Given the description of an element on the screen output the (x, y) to click on. 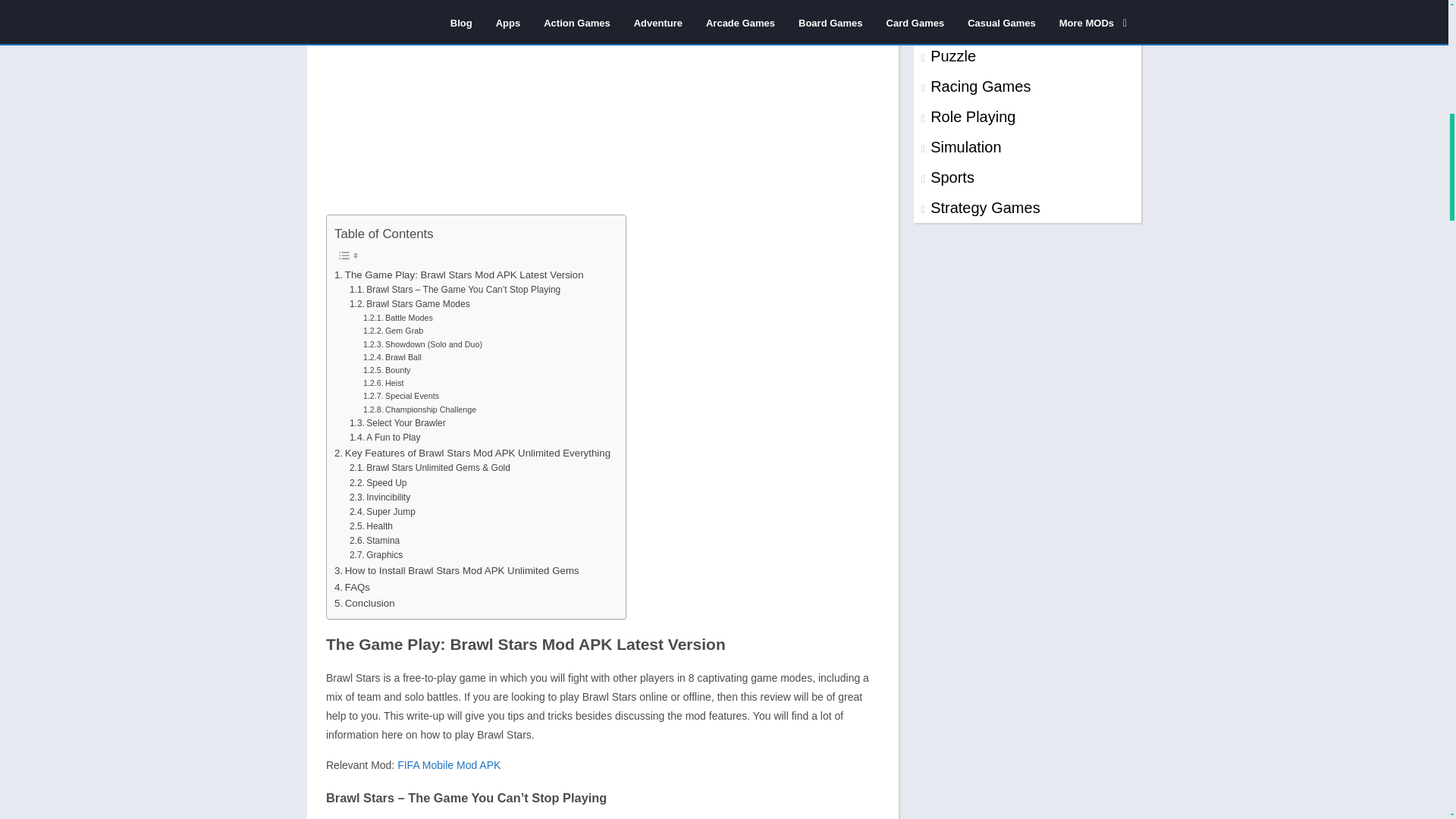
Heist (383, 382)
Brawl Ball (392, 357)
Special Events (400, 395)
Gem Grab (392, 330)
The Game Play: Brawl Stars Mod APK Latest Version (458, 274)
Battle Modes (397, 318)
Bounty (386, 369)
Brawl Stars Game Modes (409, 304)
